Given the description of an element on the screen output the (x, y) to click on. 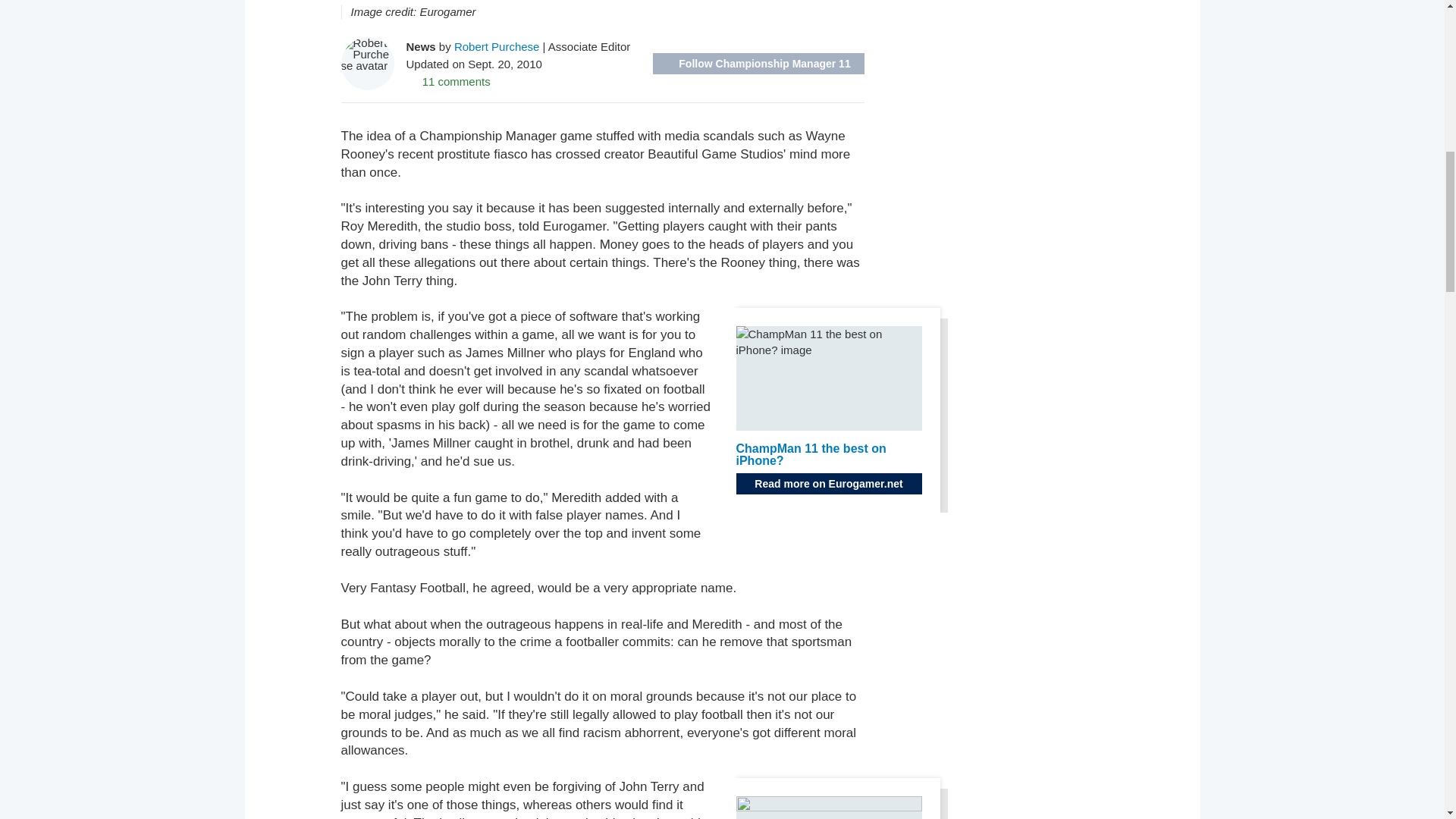
ChampMan 11 the best on iPhone? (810, 454)
Robert Purchese (497, 45)
11 comments (448, 80)
Follow Championship Manager 11 (757, 63)
Read more on Eurogamer.net (828, 483)
